Given the description of an element on the screen output the (x, y) to click on. 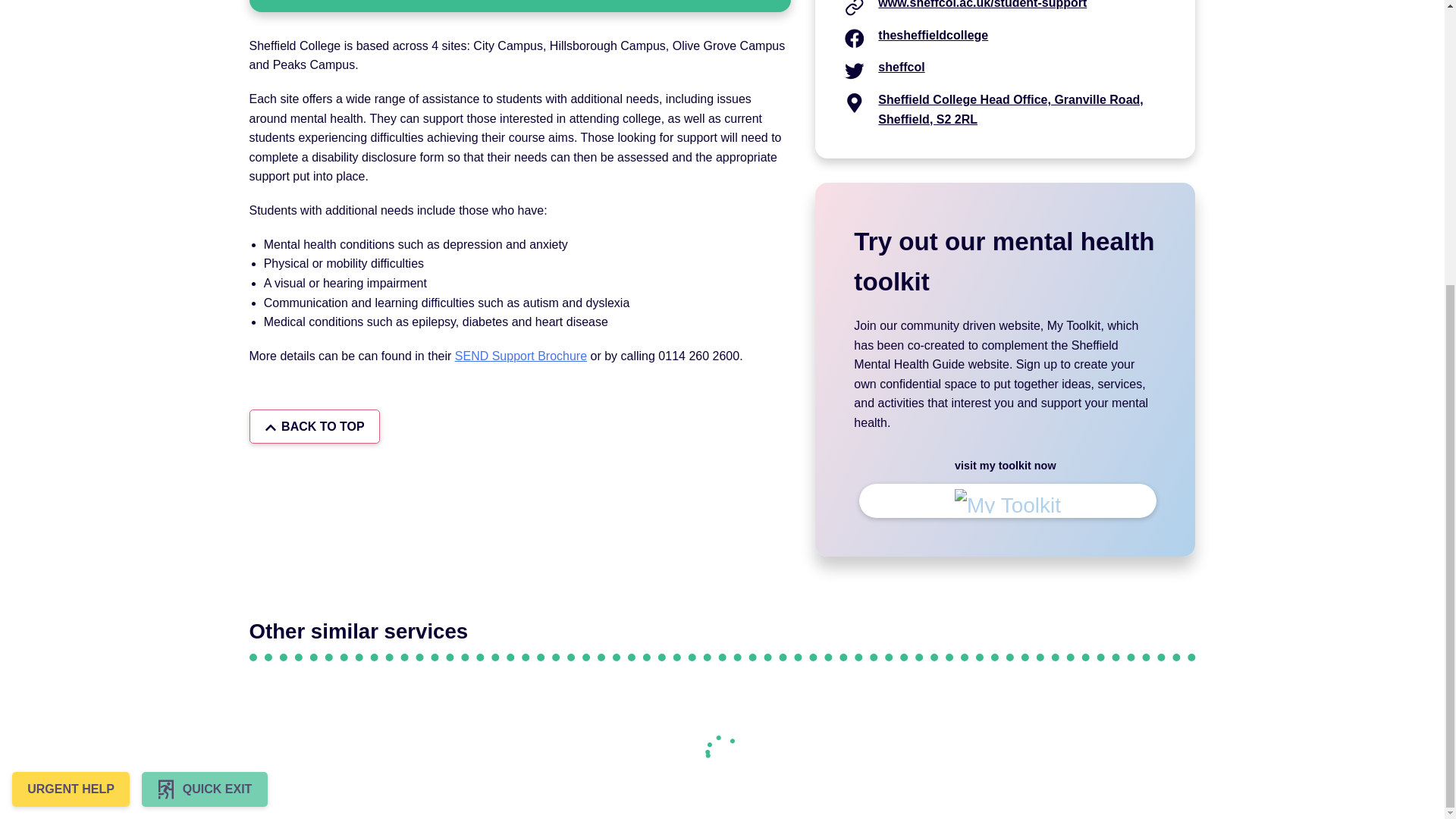
thesheffieldcollege (932, 34)
URGENT HELP (70, 360)
sheffcol (900, 66)
SEND Support Brochure (520, 355)
QUICK EXIT (204, 360)
BACK TO TOP (313, 426)
